Given the description of an element on the screen output the (x, y) to click on. 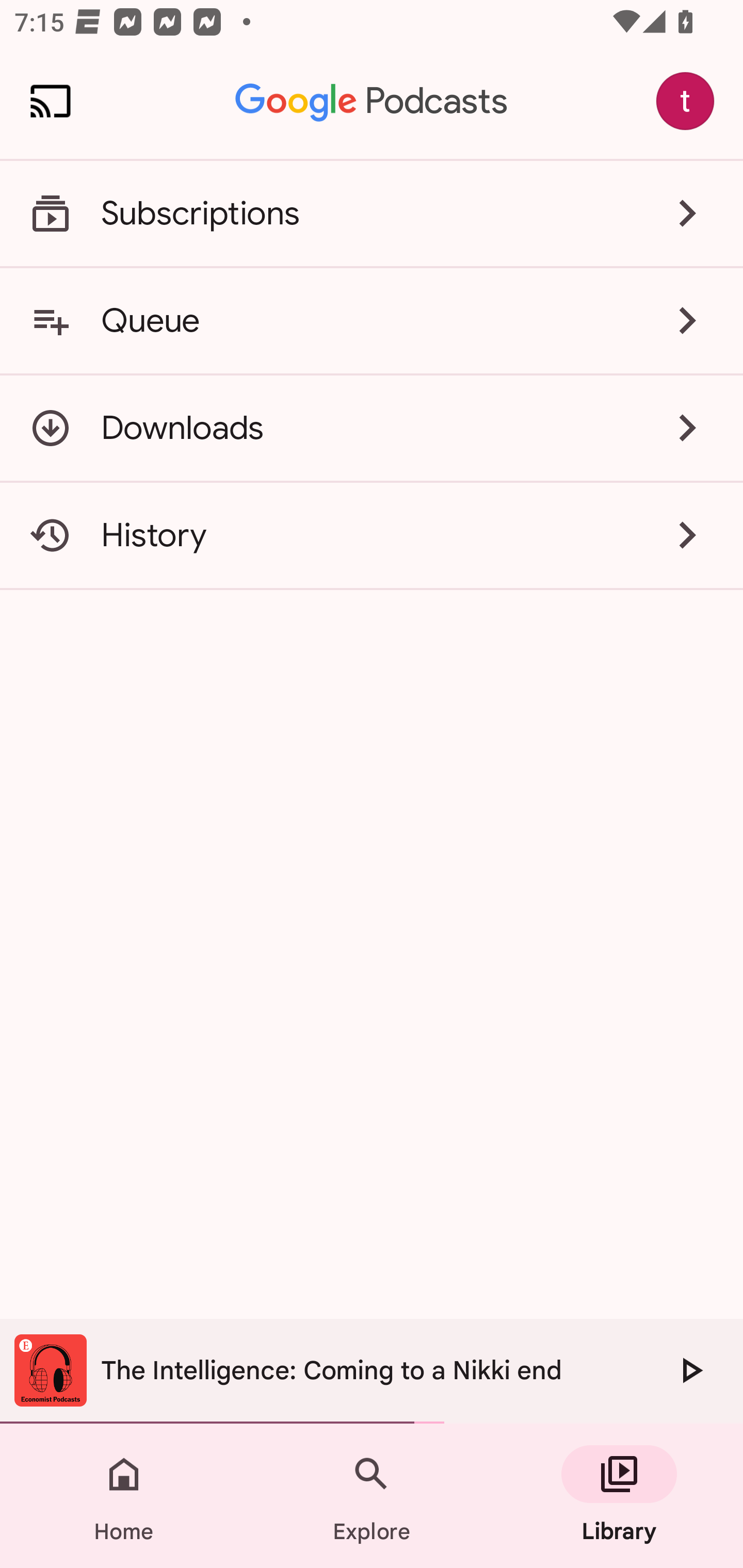
Cast. Disconnected (50, 101)
Subscriptions (371, 213)
Queue (371, 320)
Downloads (371, 427)
History (371, 535)
Play (690, 1370)
Home (123, 1495)
Explore (371, 1495)
